Given the description of an element on the screen output the (x, y) to click on. 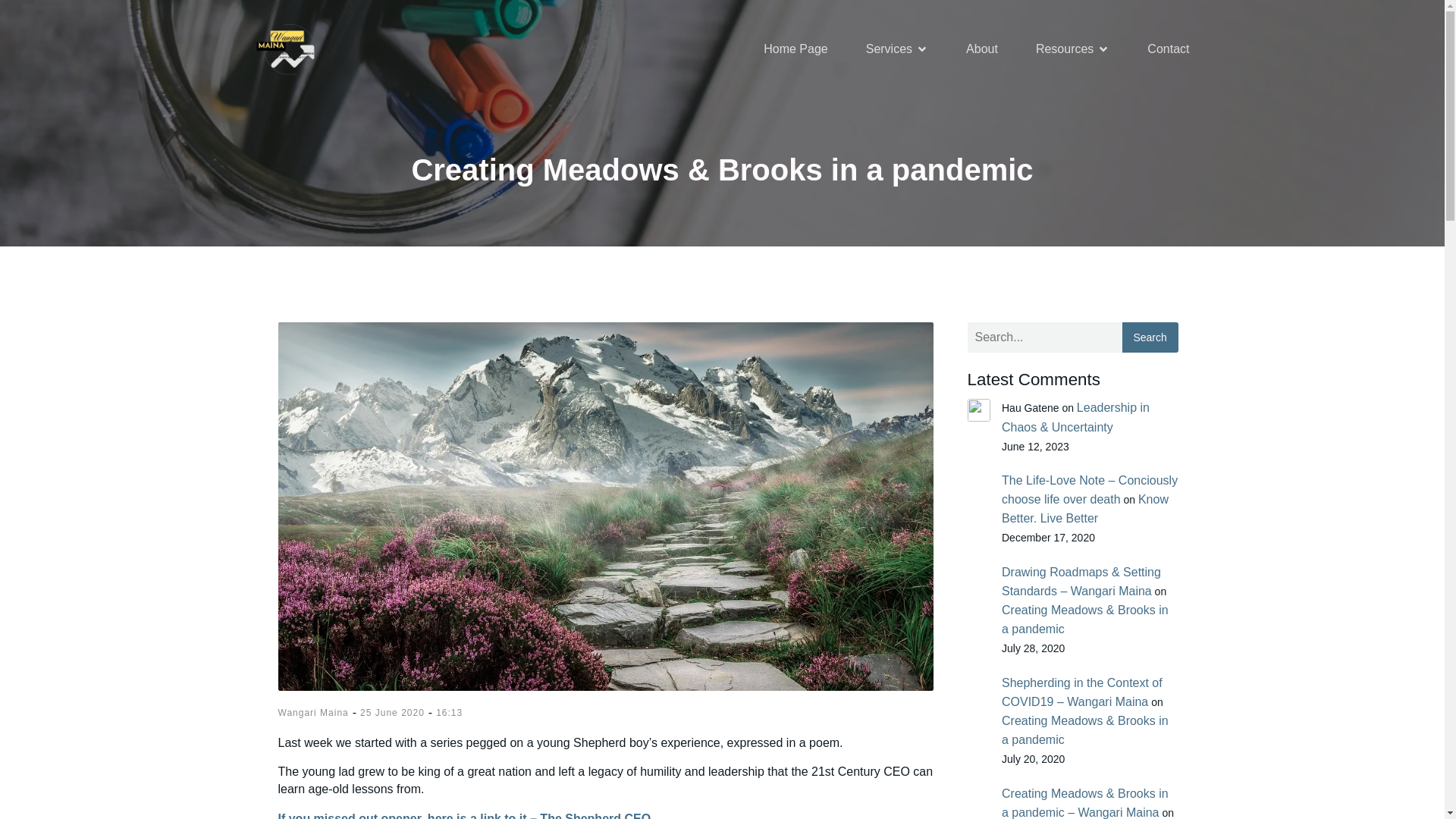
Home Page (795, 49)
25 June 2020 (392, 712)
Wangari Maina (312, 712)
16:13 (449, 712)
Services (897, 49)
Resources (1072, 49)
About (981, 49)
Contact (1168, 49)
